Given the description of an element on the screen output the (x, y) to click on. 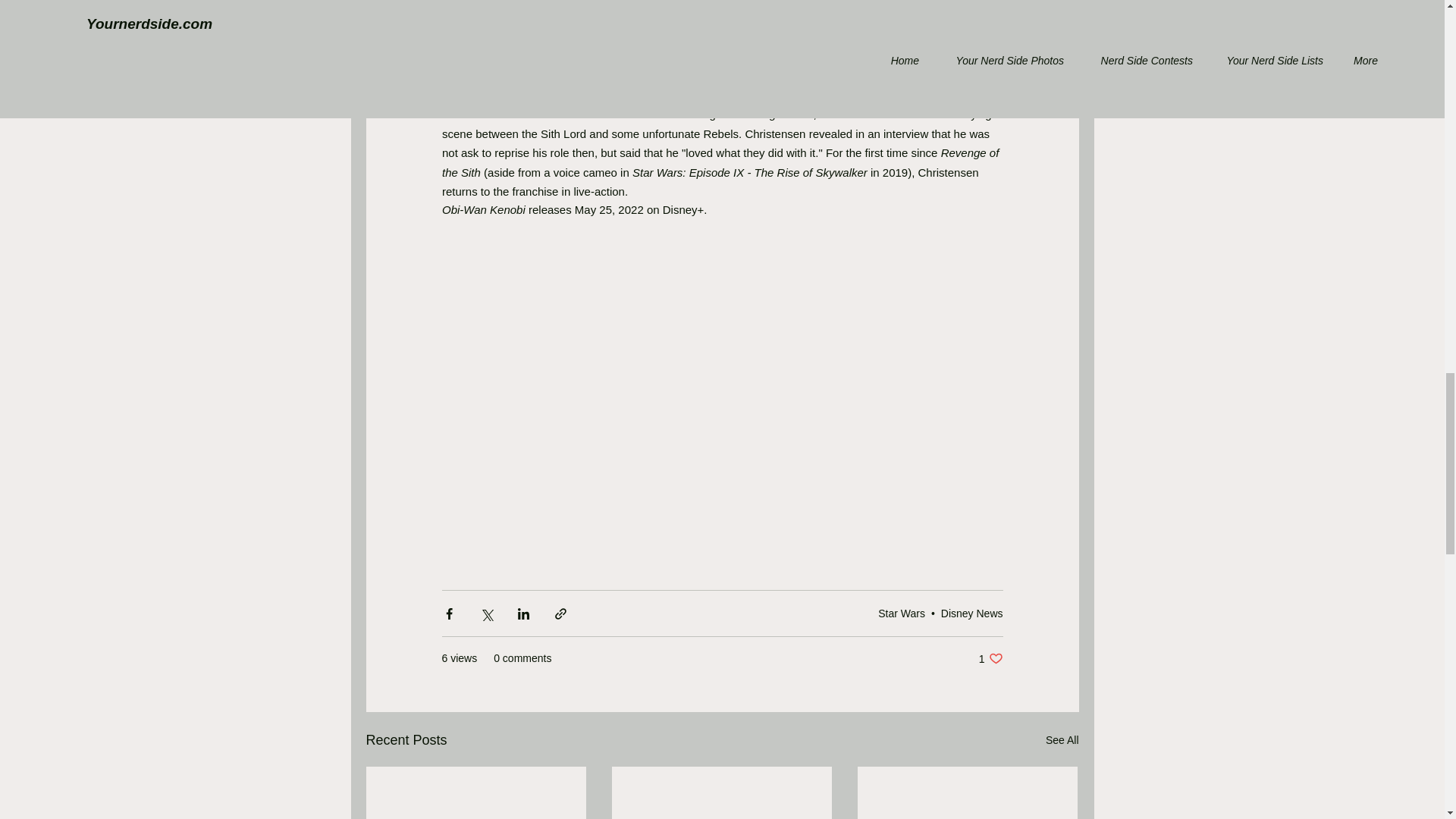
Disney News (971, 612)
Star Wars (900, 612)
